Given the description of an element on the screen output the (x, y) to click on. 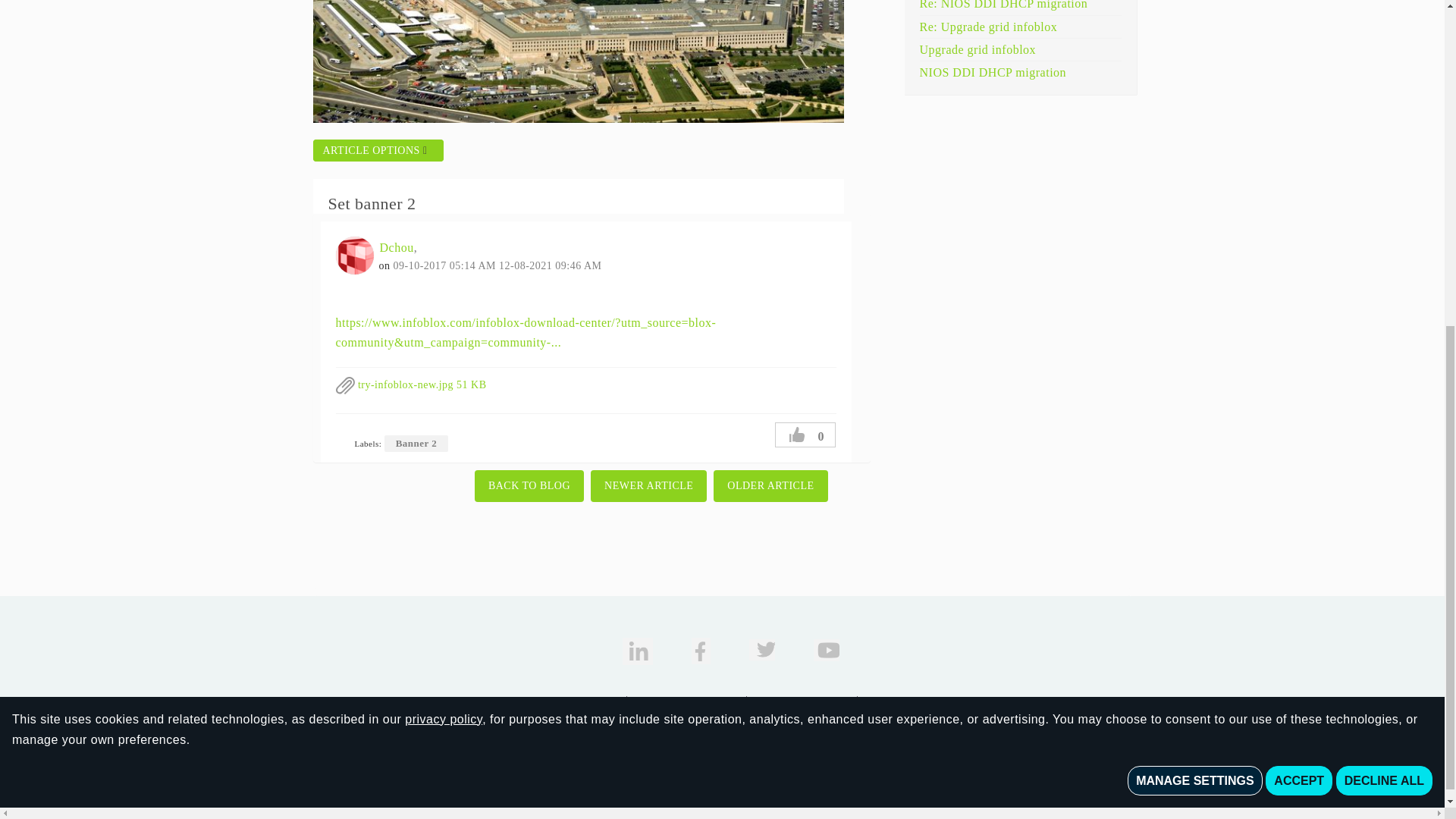
Dchou (353, 255)
Show option menu (377, 150)
Pentagon.jpg (578, 61)
